Given the description of an element on the screen output the (x, y) to click on. 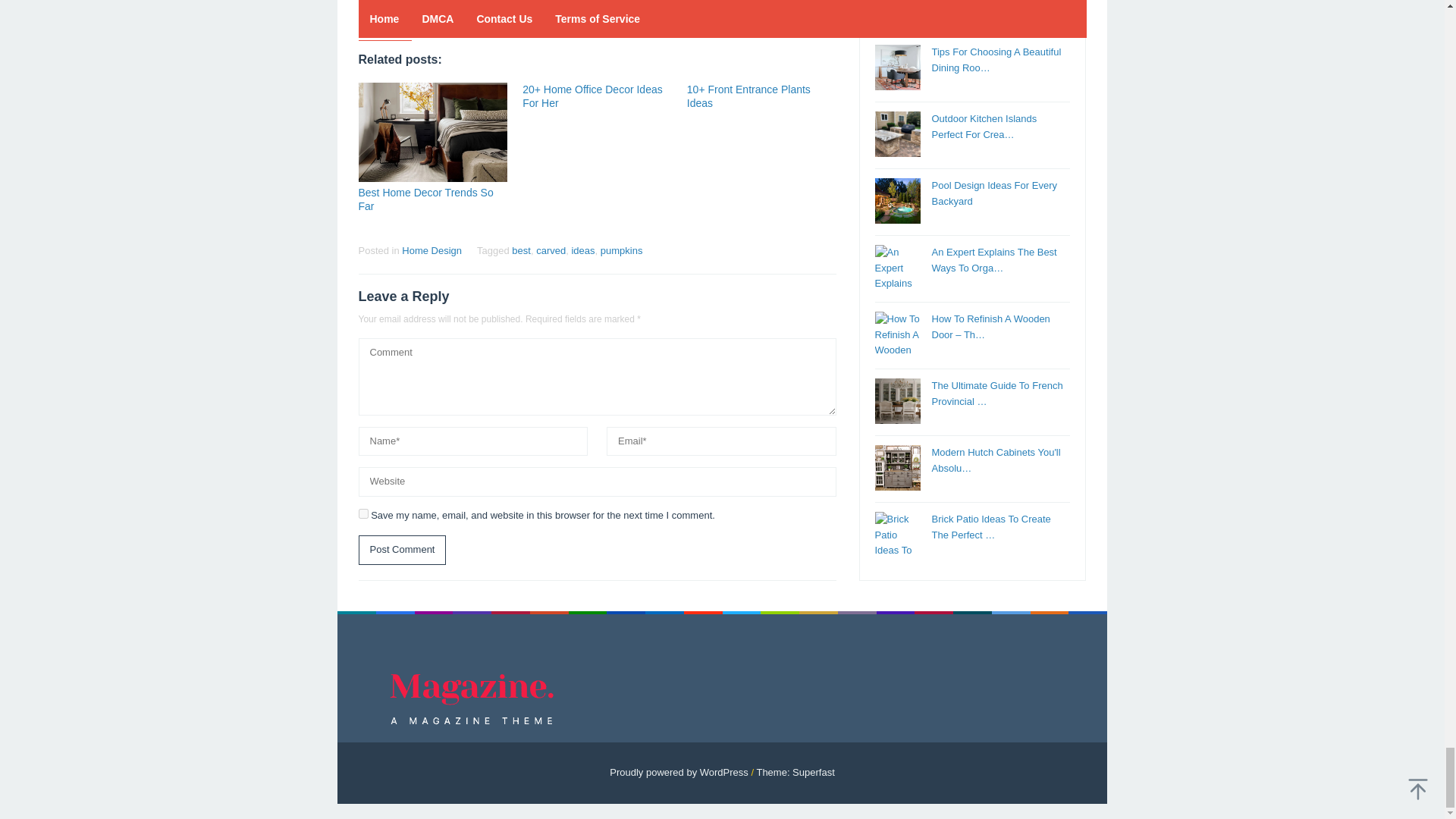
Proudly powered by WordPress (679, 772)
yes (363, 513)
Tweet this (396, 13)
best (521, 250)
Best Home Decor Trends So Far (425, 199)
pumpkins (621, 250)
Theme: Superfast (794, 772)
ideas (582, 250)
Home Design (431, 250)
carved (550, 250)
Share this (369, 13)
Post Comment (401, 550)
Pin this (421, 13)
Telegram Share (449, 13)
Permalink to: Best Home Decor Trends So Far (425, 199)
